Given the description of an element on the screen output the (x, y) to click on. 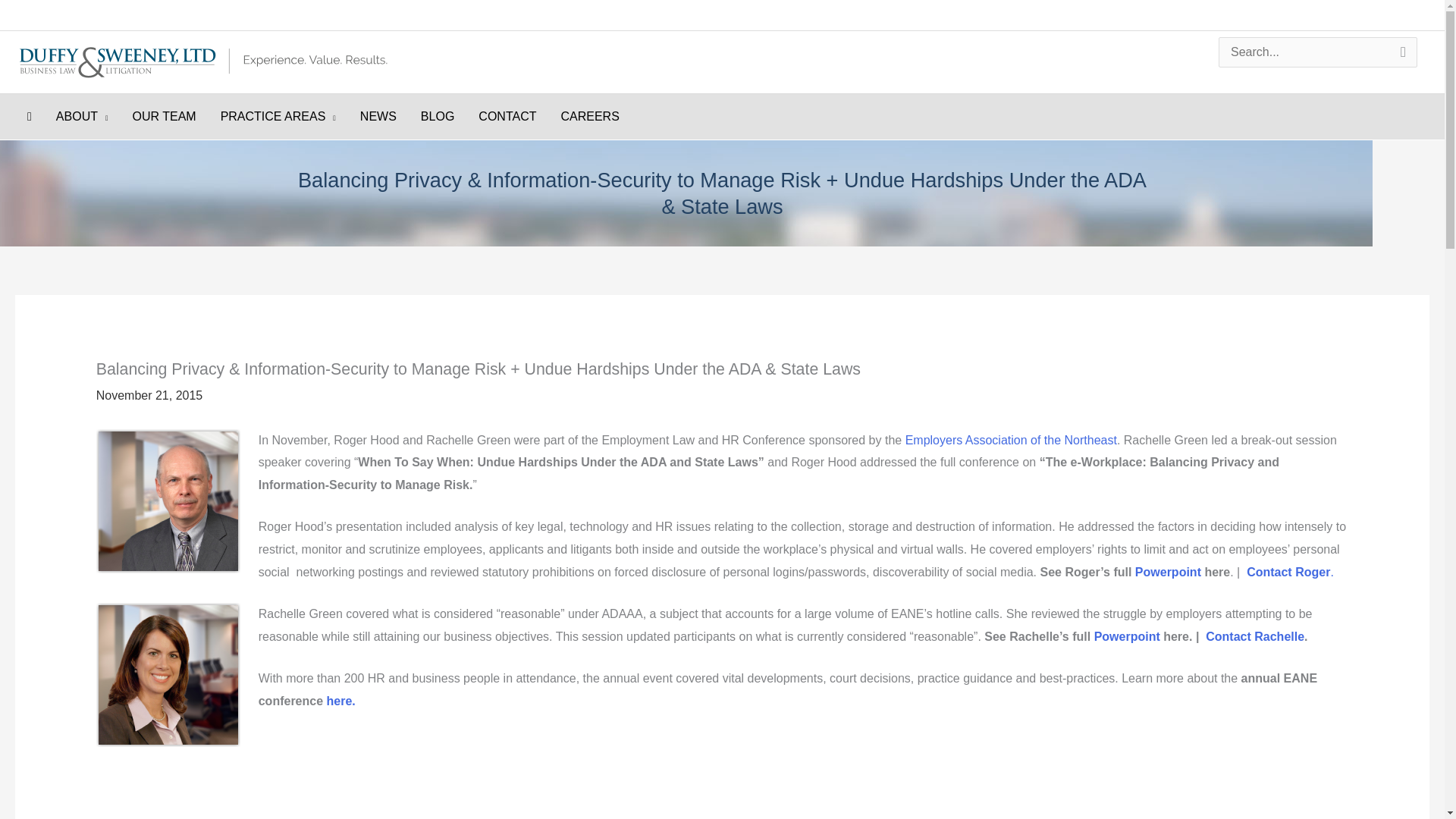
ABOUT (81, 116)
OUR TEAM (163, 116)
PRACTICE AREAS (277, 116)
401.455.0700 (1074, 14)
NEWS (378, 116)
